Given the description of an element on the screen output the (x, y) to click on. 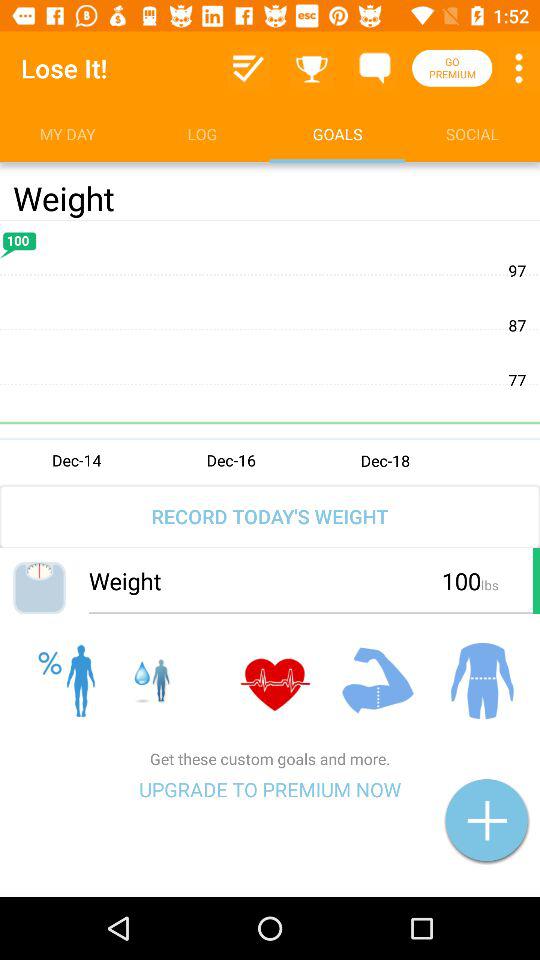
open item to the right of lose it! item (248, 67)
